Given the description of an element on the screen output the (x, y) to click on. 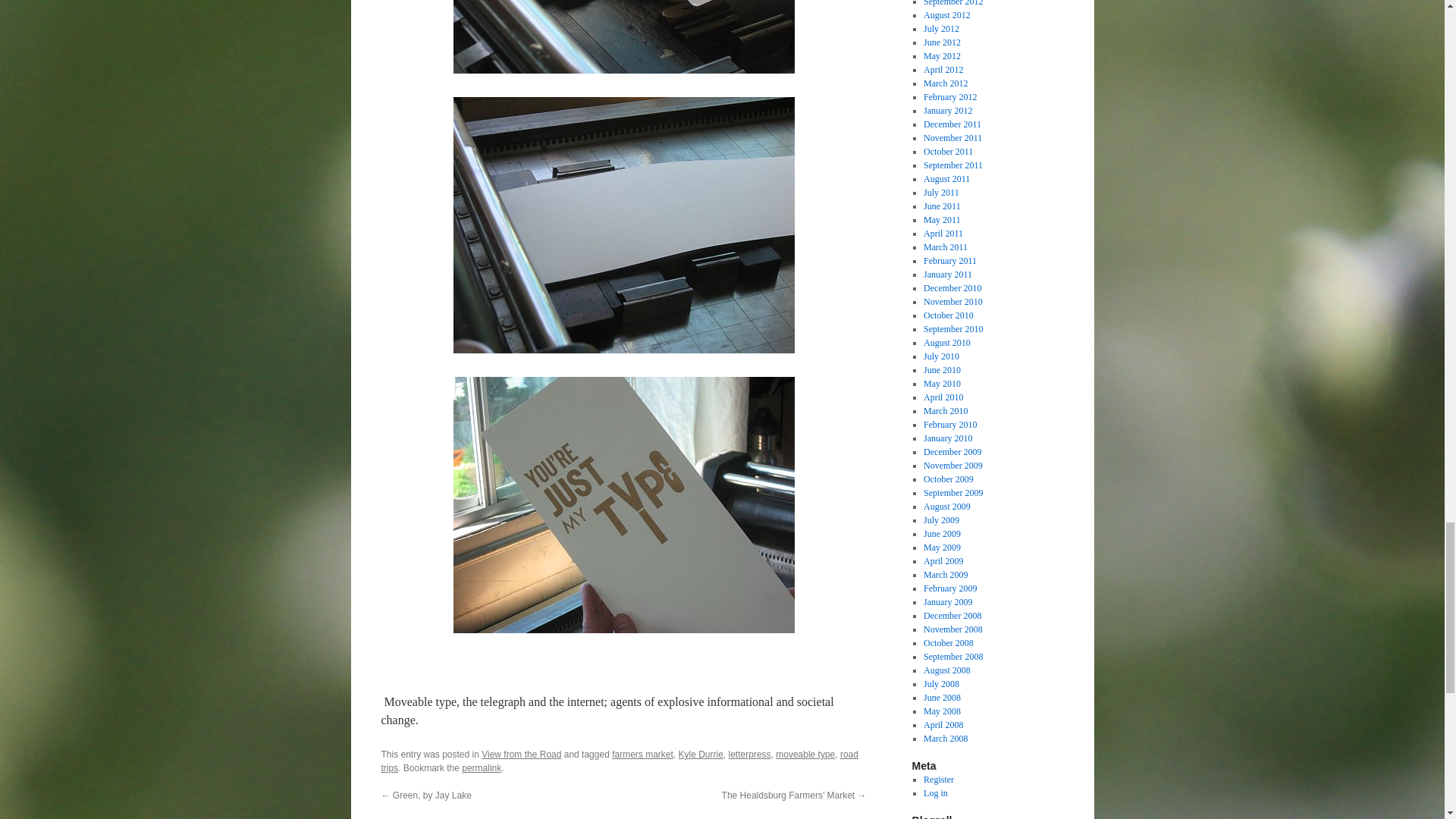
farmers market (641, 754)
View from the Road (520, 754)
Kyle Durrie (700, 754)
permalink (480, 767)
type (623, 36)
Permalink to Just My Type (480, 767)
road trips (618, 761)
just my type II (623, 504)
letterpress (750, 754)
paper (623, 224)
moveable type (805, 754)
